Given the description of an element on the screen output the (x, y) to click on. 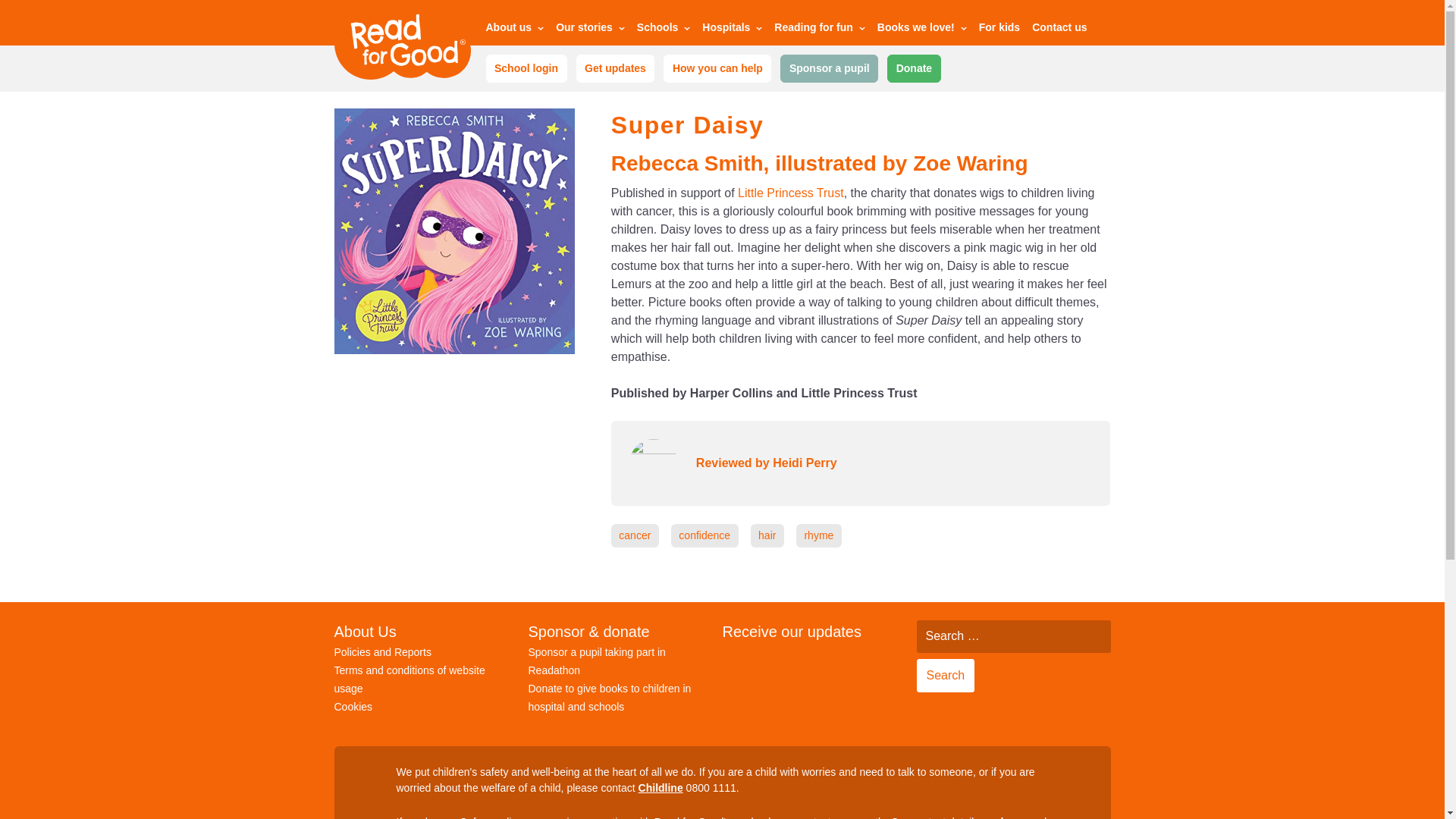
Reading for fun (819, 29)
Search (944, 675)
Hospitals (731, 29)
Search (944, 675)
Our stories (590, 29)
About us (513, 29)
Books we love! (921, 29)
Schools (663, 29)
